Given the description of an element on the screen output the (x, y) to click on. 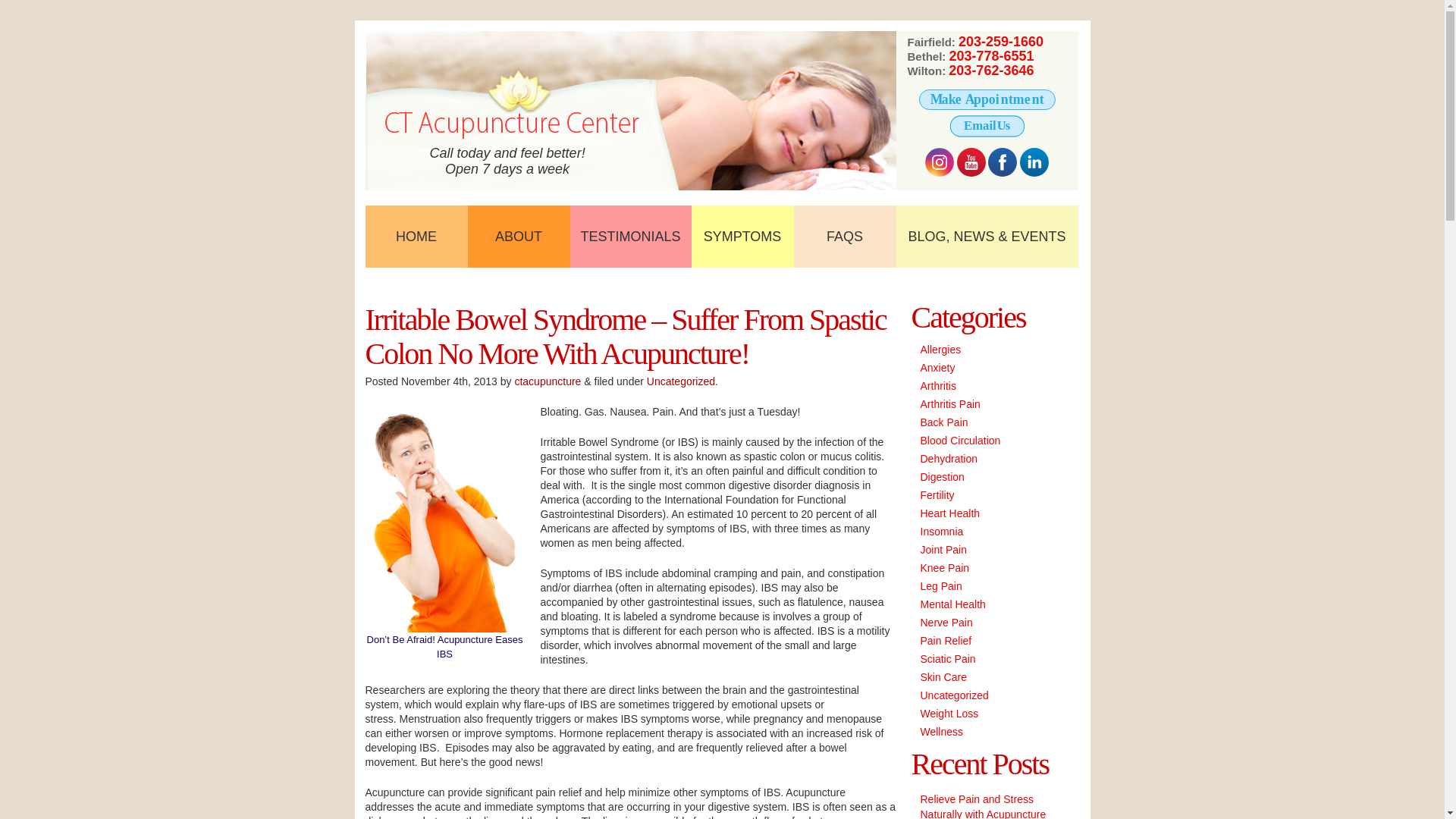
Posts by ctacupuncture (546, 381)
SYMPTOMS (742, 236)
facebook (1002, 162)
HOME (416, 236)
youtube (970, 162)
ABOUT (518, 236)
twitter (938, 162)
TESTIMONIALS (630, 236)
linkedin (1034, 162)
